Given the description of an element on the screen output the (x, y) to click on. 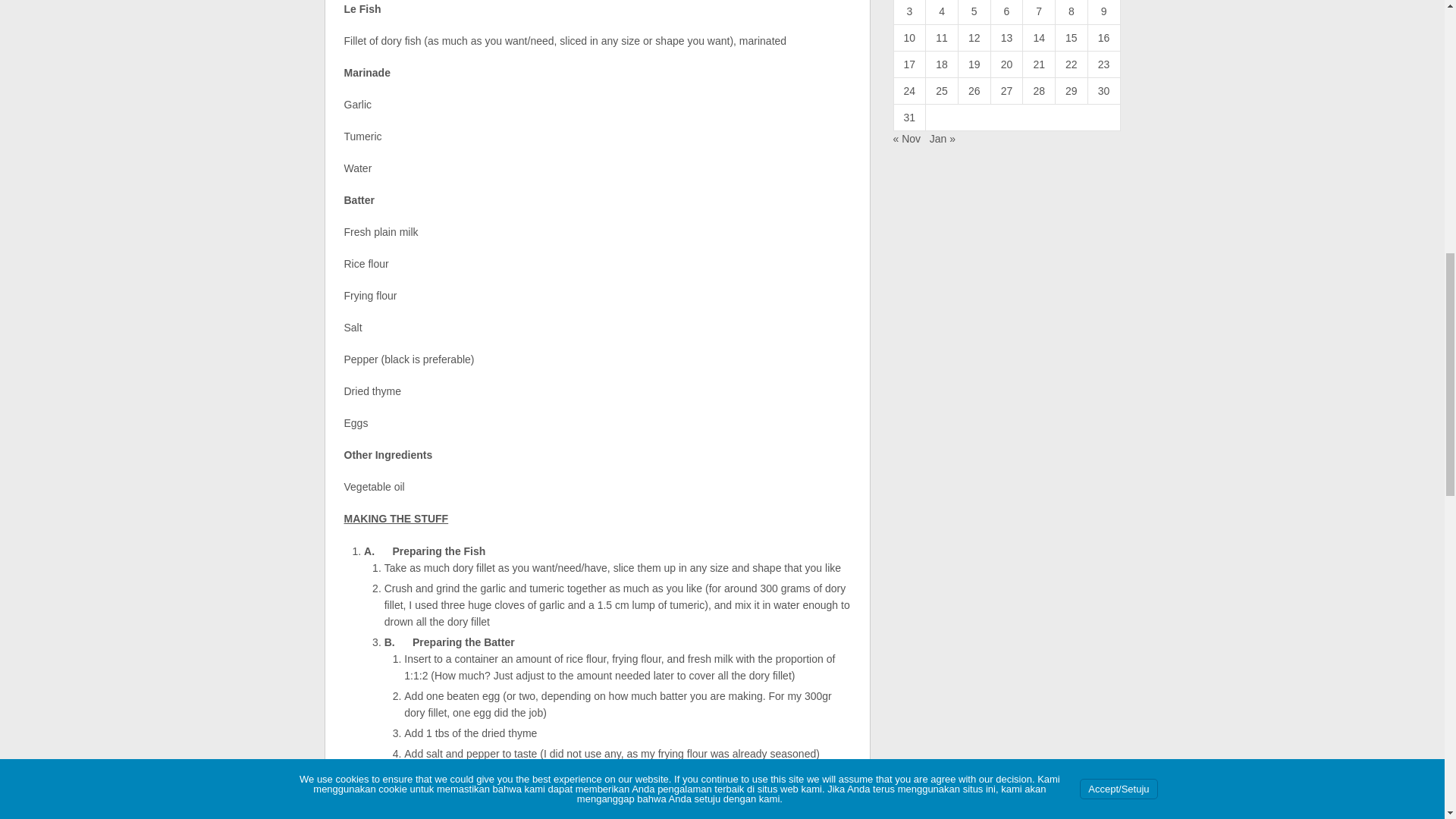
20 (1007, 64)
11 (941, 37)
